Given the description of an element on the screen output the (x, y) to click on. 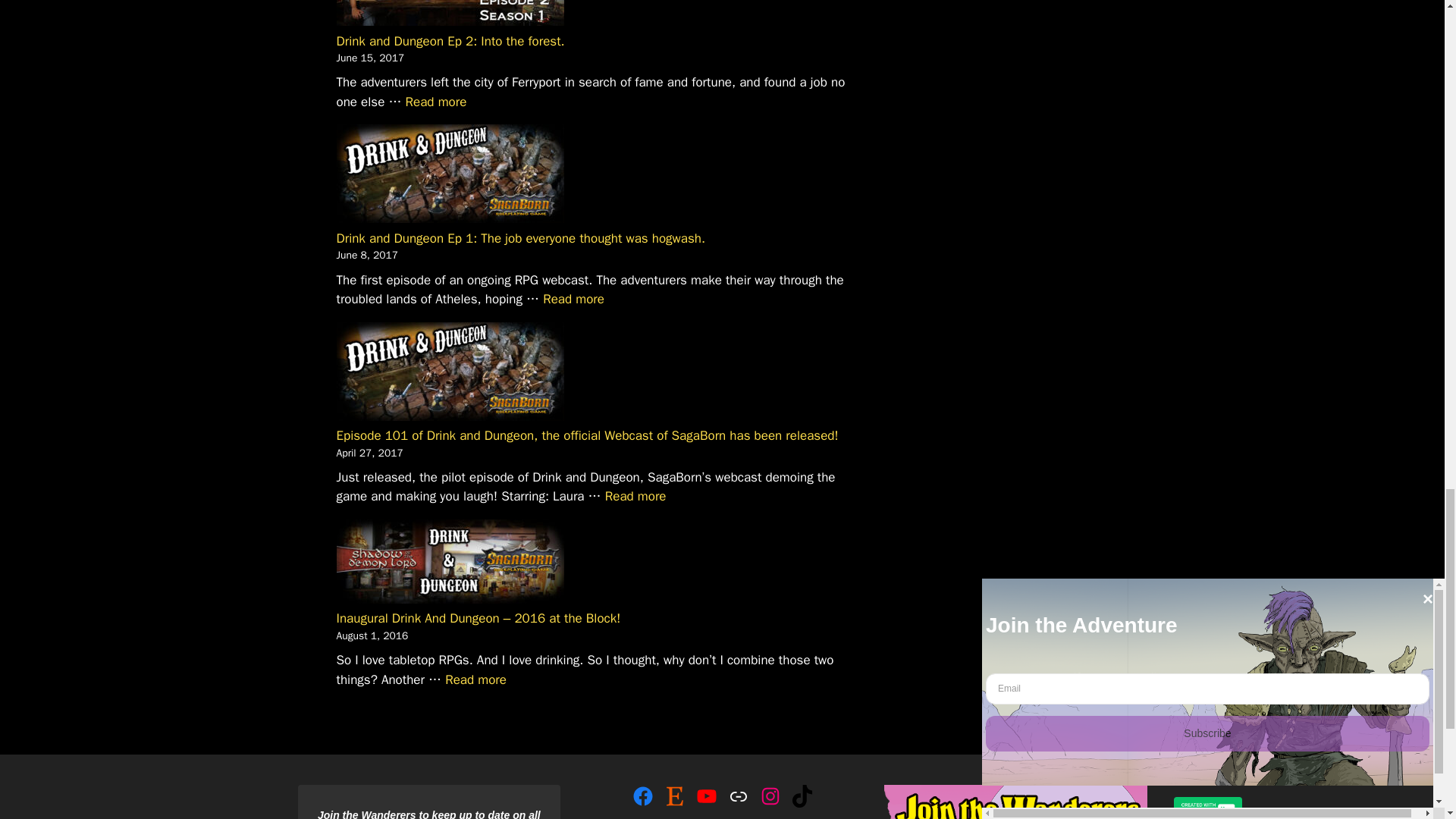
Drink and Dungeon Ep 2: Into the forest. (450, 41)
Drink and Dungeon Ep 2: Into the forest. (436, 101)
Read more (436, 101)
